Given the description of an element on the screen output the (x, y) to click on. 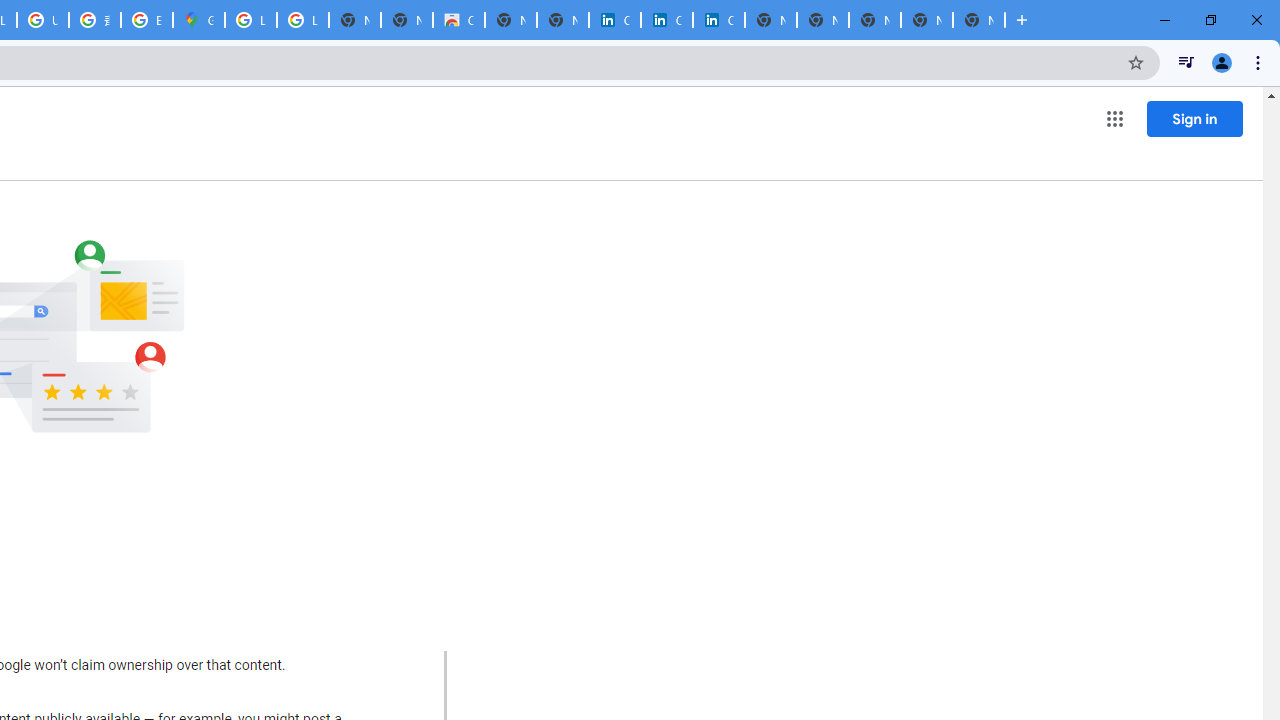
Cookie Policy | LinkedIn (666, 20)
Explore new street-level details - Google Maps Help (146, 20)
Copyright Policy (718, 20)
